Given the description of an element on the screen output the (x, y) to click on. 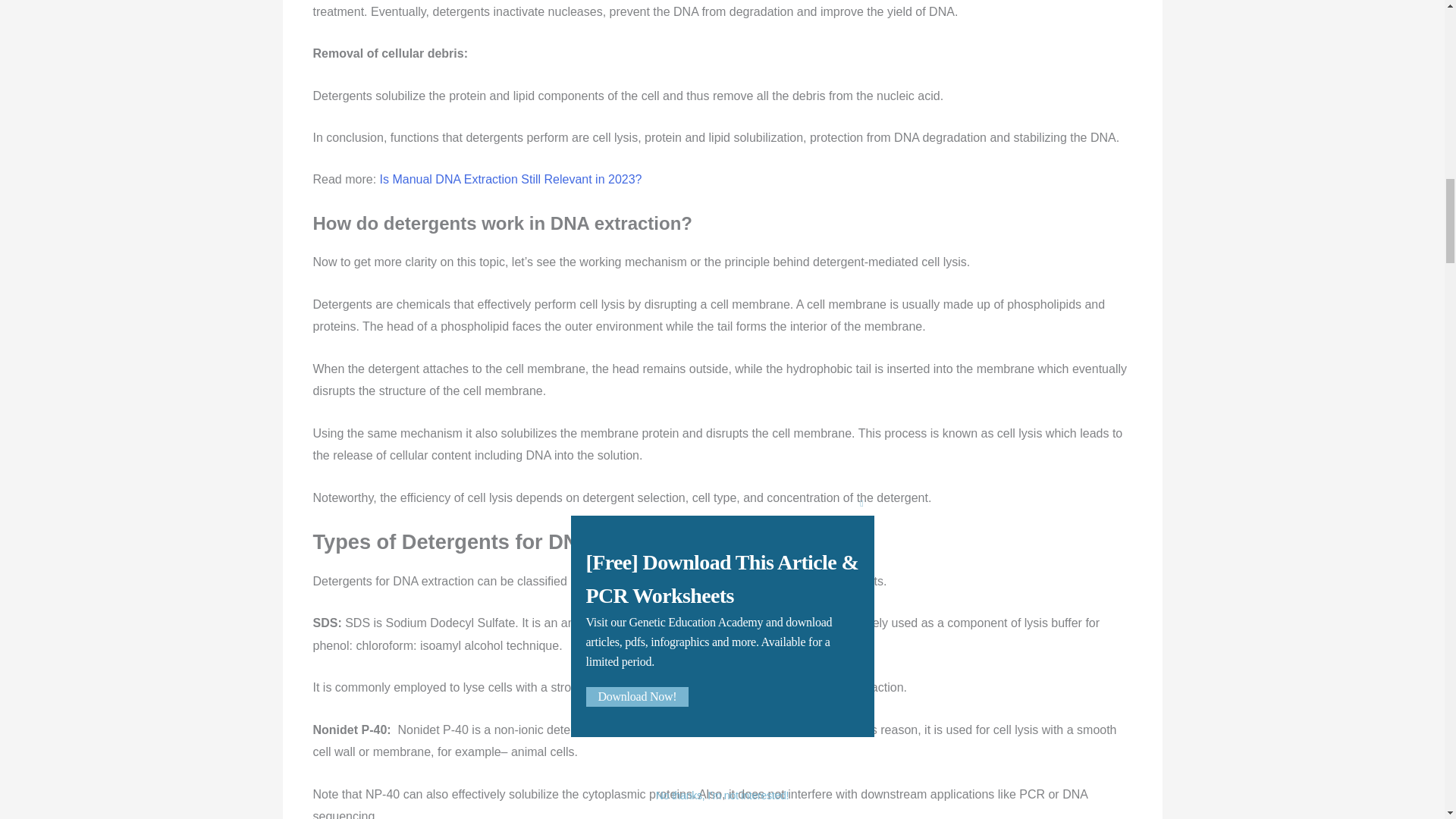
Is Manual DNA Extraction Still Relevant in 2023? (511, 178)
